Given the description of an element on the screen output the (x, y) to click on. 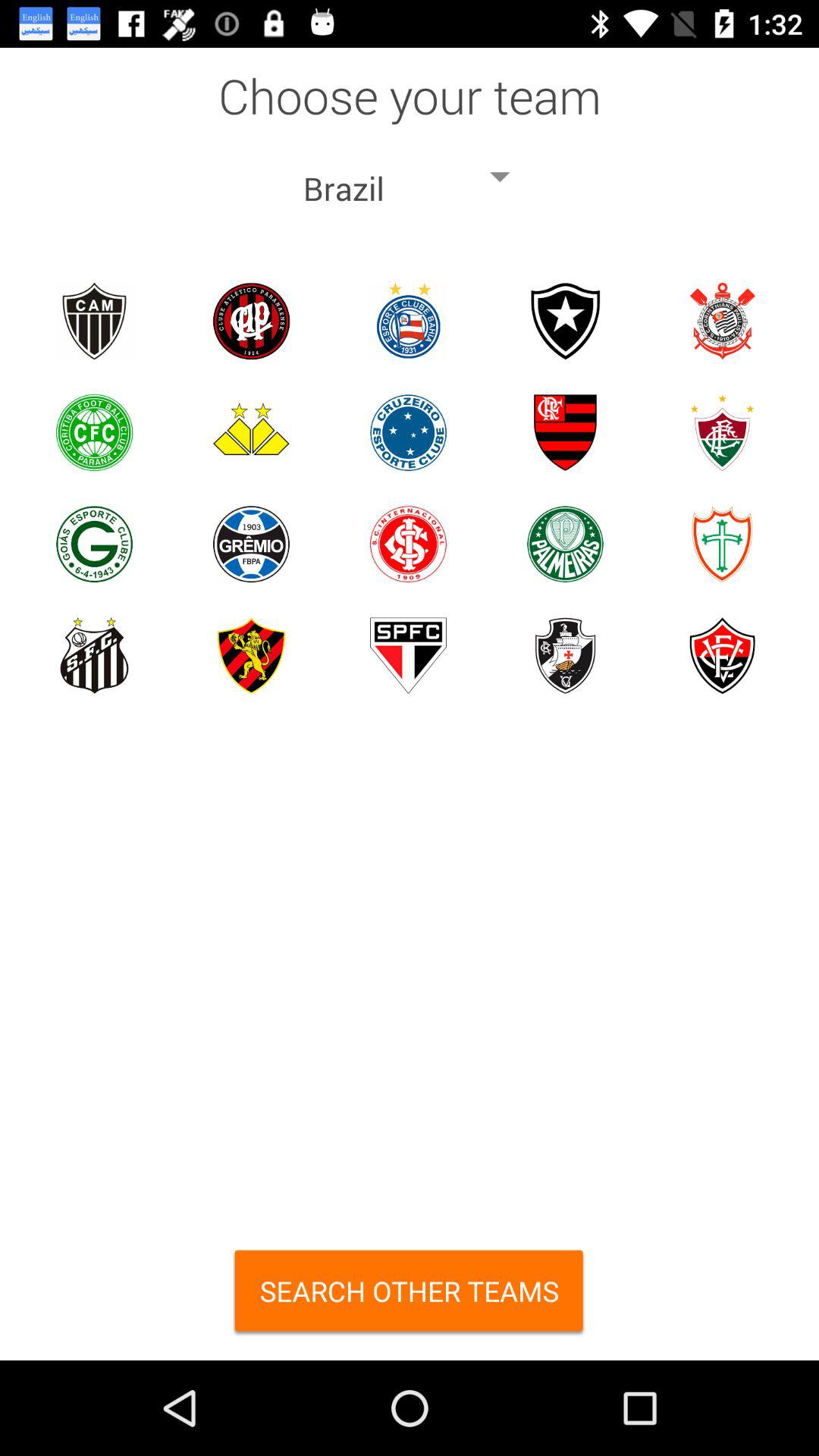
select esporte clube vitria (722, 655)
